Given the description of an element on the screen output the (x, y) to click on. 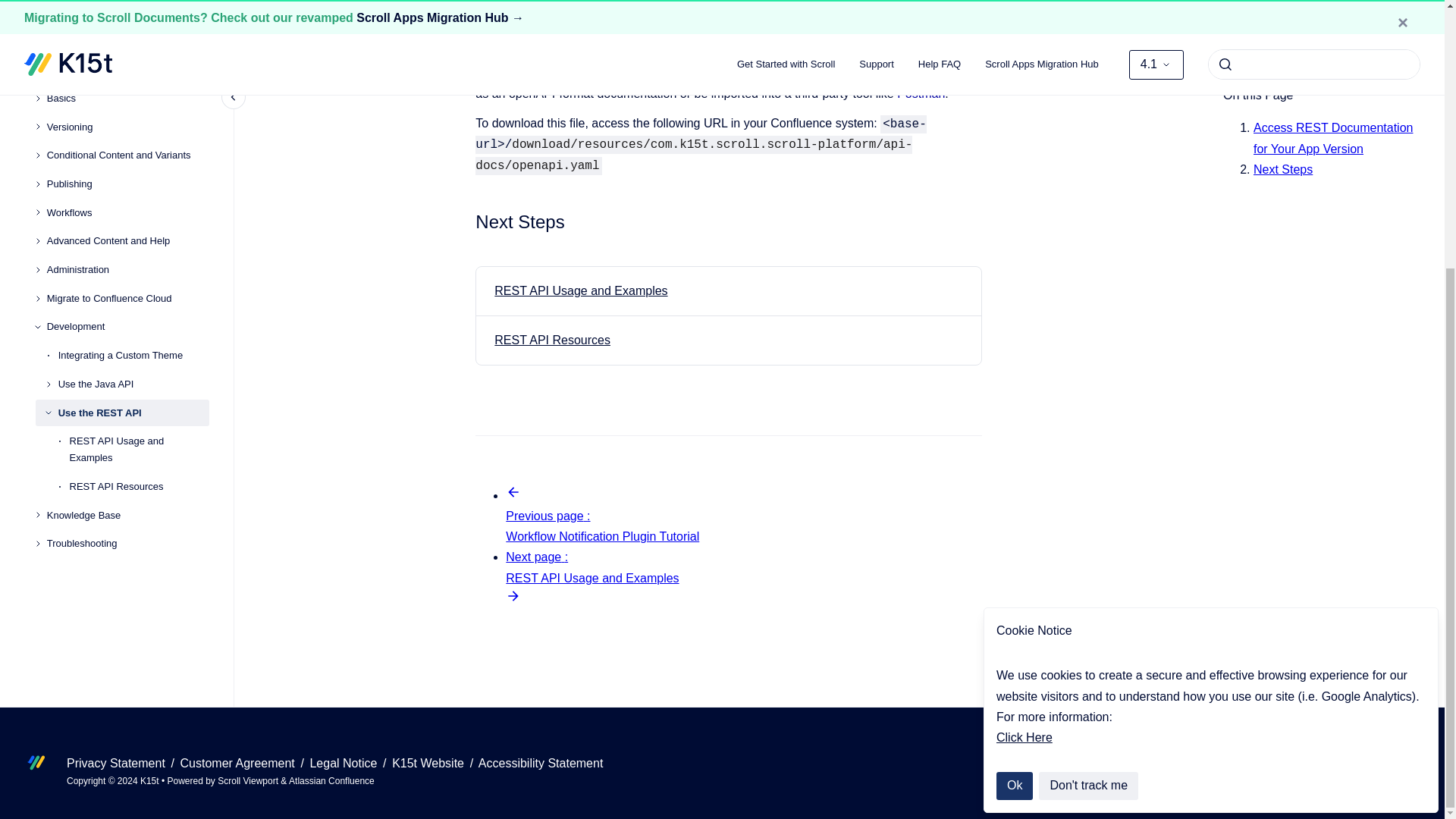
Integrating a Custom Theme (133, 7)
Ok (1013, 396)
REST API Resources (139, 131)
Don't track me (1088, 396)
Click Here (1023, 347)
Use the REST API (133, 58)
REST API Usage and Examples (139, 94)
REST API Usage and Examples (580, 290)
Use the Java API (133, 29)
REST API Resources (552, 339)
